Given the description of an element on the screen output the (x, y) to click on. 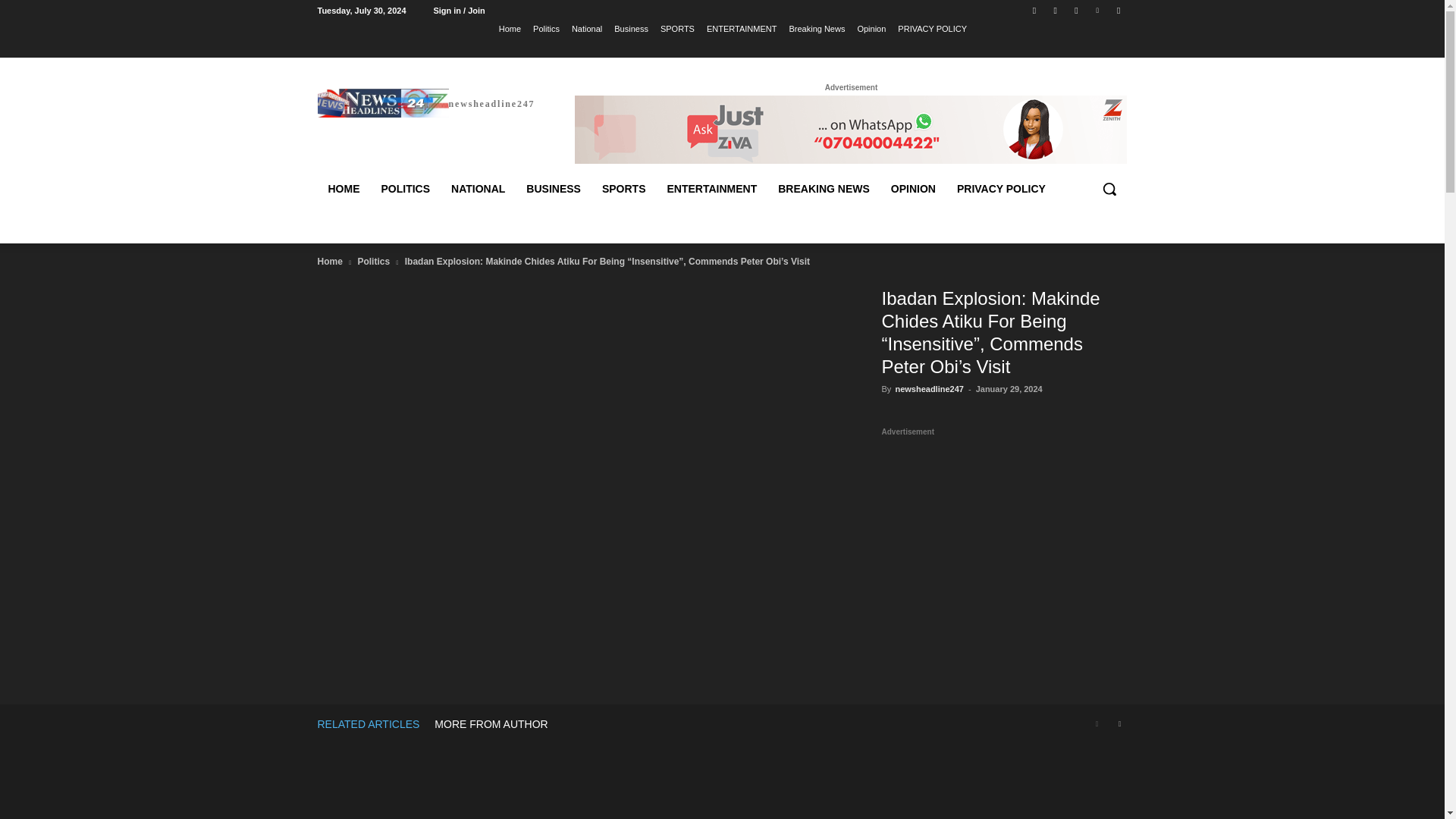
HOME (343, 188)
Opinion (871, 28)
National (587, 28)
Instagram (1055, 9)
ENTERTAINMENT (741, 28)
Breaking News (816, 28)
SPORTS (677, 28)
Vimeo (1097, 9)
Twitter (1075, 9)
newsheadline247 (425, 102)
Youtube (1117, 9)
Business (630, 28)
NATIONAL (478, 188)
PRIVACY POLICY (932, 28)
POLITICS (405, 188)
